Given the description of an element on the screen output the (x, y) to click on. 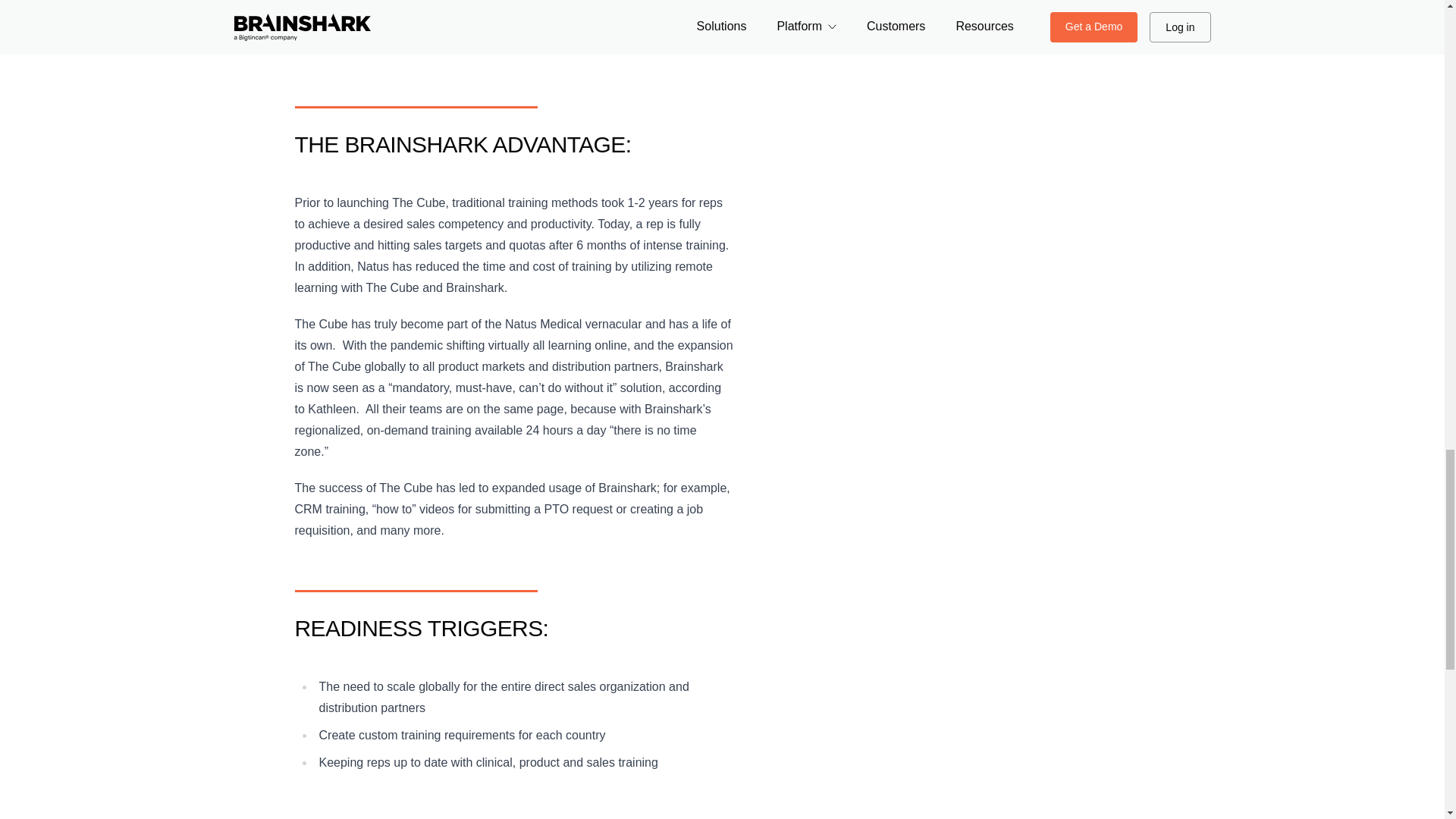
How Natus Cut Time-to-Productivity in Half for New Hires (528, 46)
